Given the description of an element on the screen output the (x, y) to click on. 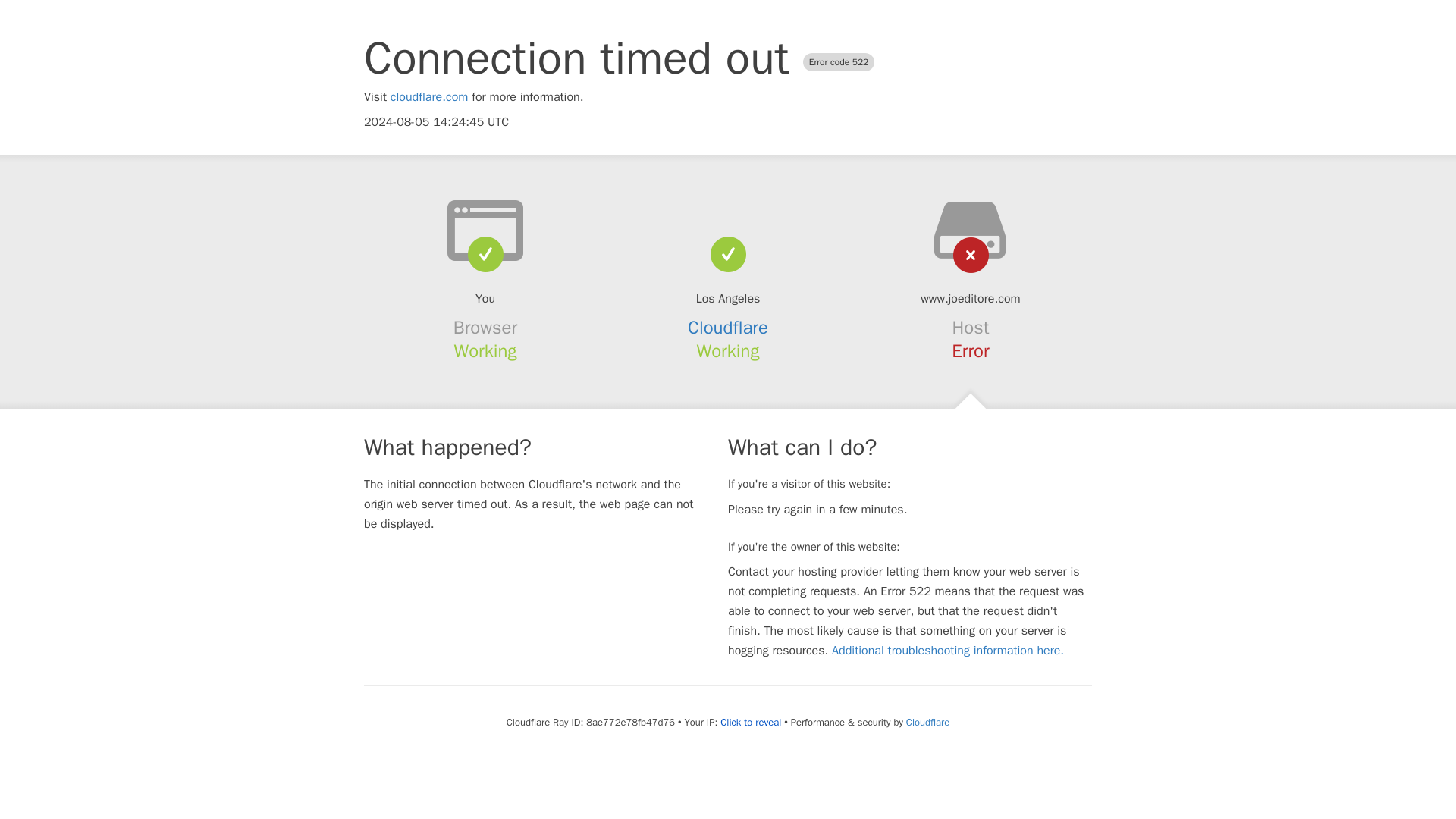
cloudflare.com (429, 96)
Additional troubleshooting information here. (947, 650)
Click to reveal (750, 722)
Cloudflare (727, 327)
Cloudflare (927, 721)
